Given the description of an element on the screen output the (x, y) to click on. 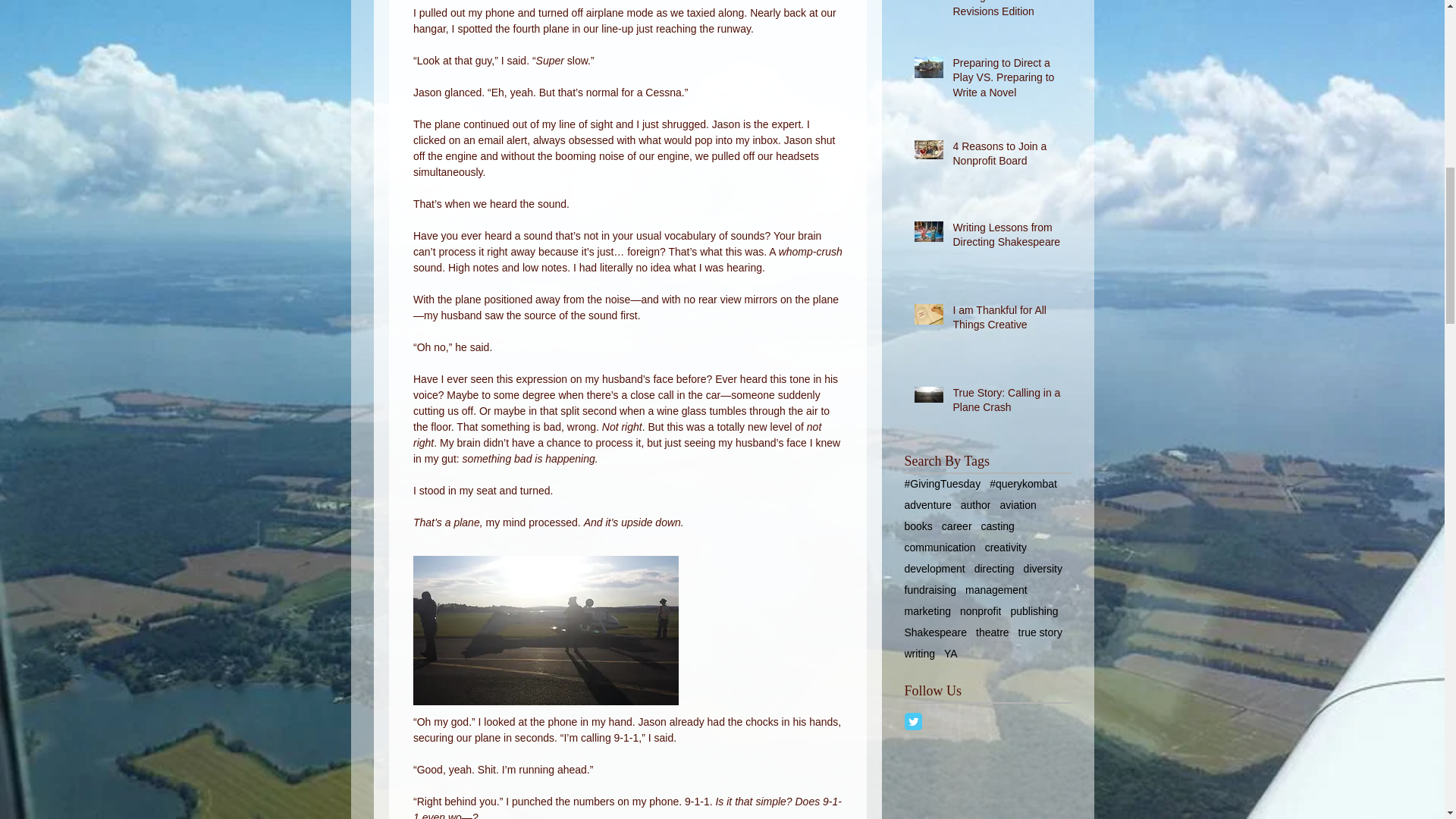
aviation (1016, 504)
True Story: Calling in a Plane Crash (1006, 403)
books (917, 526)
communication (939, 547)
adventure (927, 504)
Writing Lessons from Directing Shakespeare (1006, 238)
4 Reasons to Join a Nonprofit Board (1006, 157)
I am Thankful for All Things Creative (1006, 321)
author (975, 504)
casting (997, 526)
